Given the description of an element on the screen output the (x, y) to click on. 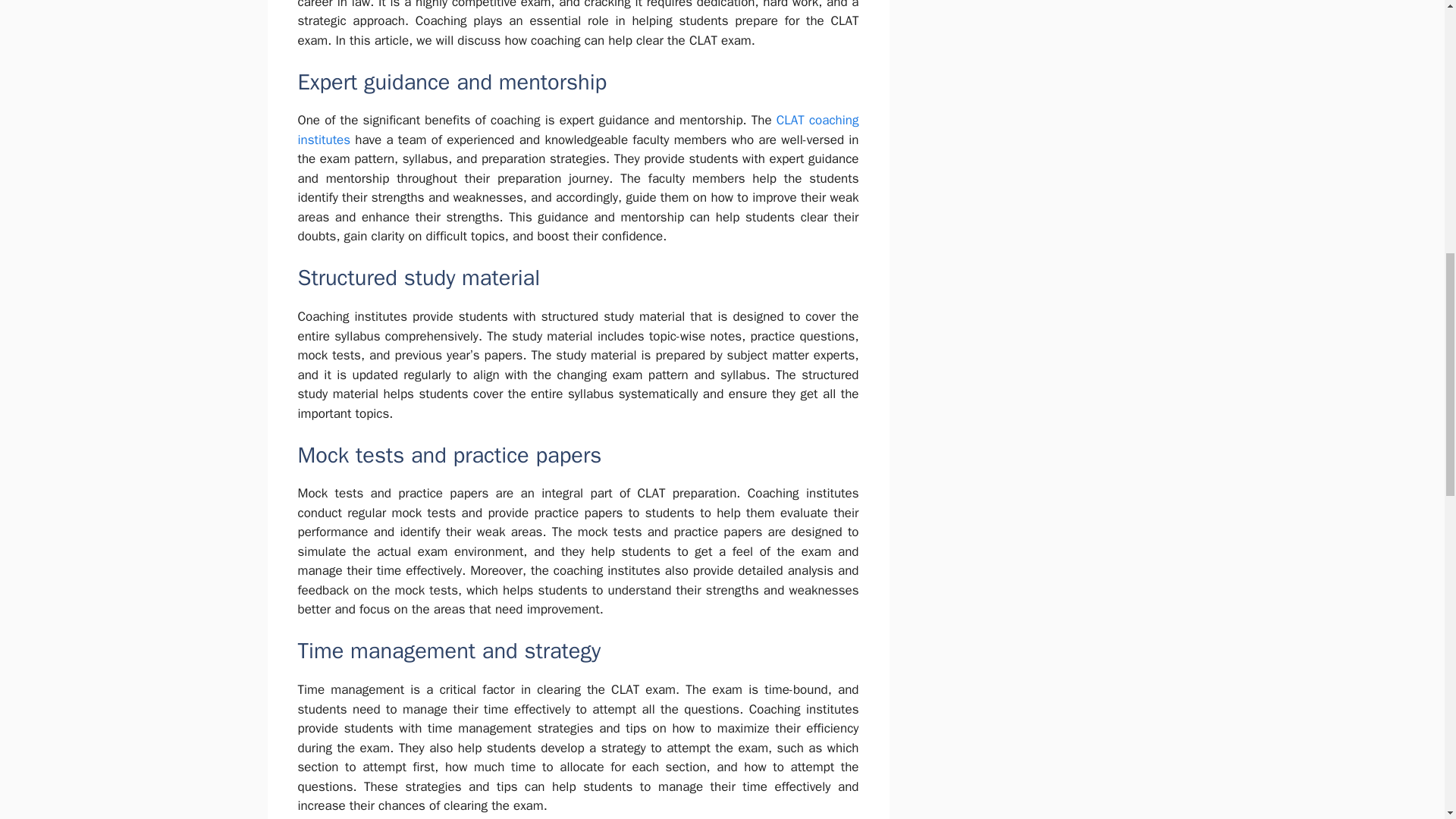
CLAT coaching institutes (578, 130)
